Given the description of an element on the screen output the (x, y) to click on. 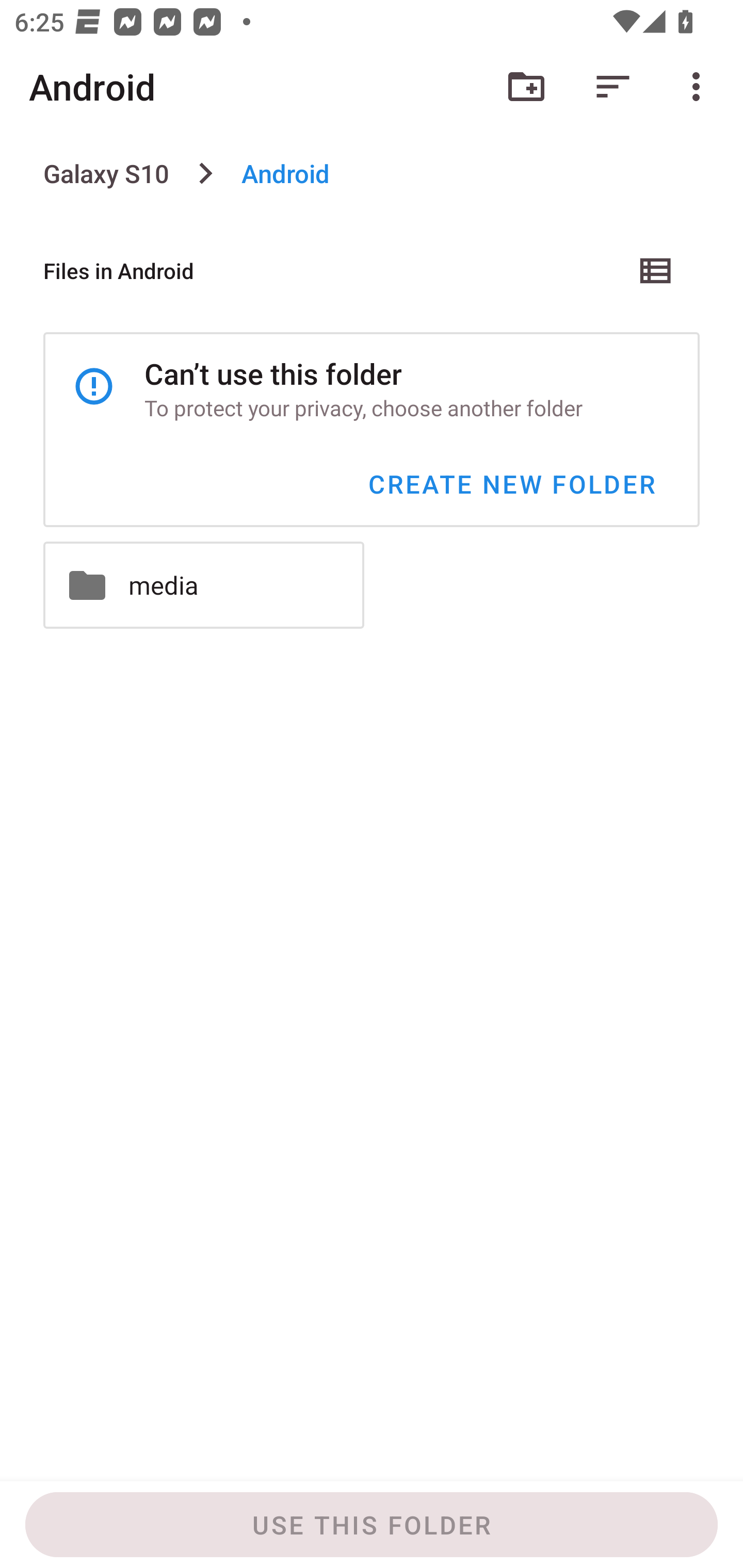
New folder (525, 86)
Sort by... (612, 86)
More options (699, 86)
List view (655, 270)
CREATE NEW FOLDER (511, 483)
media (203, 584)
USE THIS FOLDER (371, 1524)
